Given the description of an element on the screen output the (x, y) to click on. 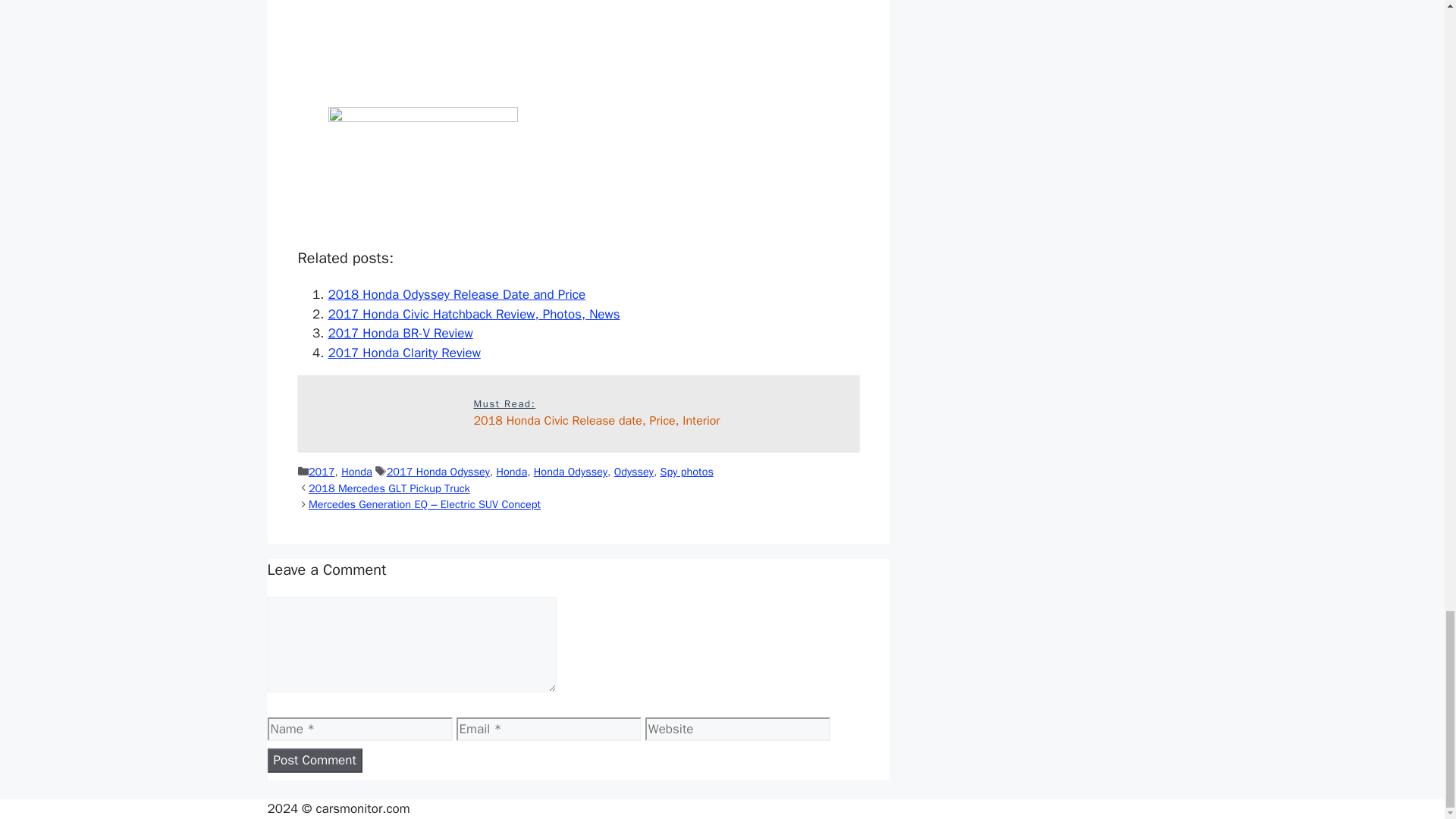
Honda Odyssey (570, 471)
2017 Honda Clarity Review (403, 352)
2018 Mercedes GLT Pickup Truck (389, 488)
Honda (511, 471)
2017 Honda BR-V Review (399, 333)
2018 Honda Odyssey Release Date and Price (456, 294)
Post Comment (313, 760)
Post Comment (313, 760)
2017 Honda BR-V Review (578, 413)
